Given the description of an element on the screen output the (x, y) to click on. 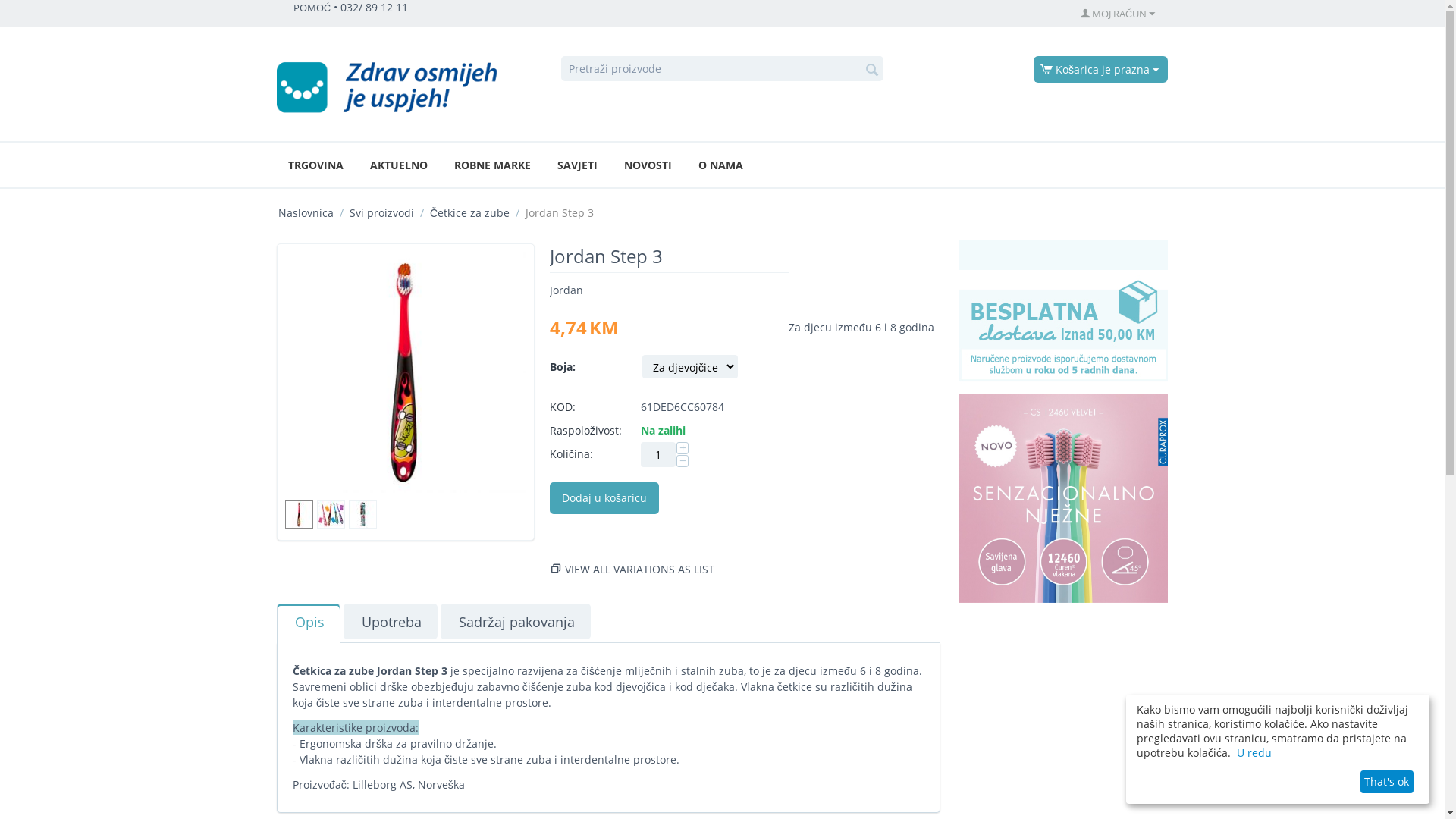
Curaprox CS 12460 velvet Element type: hover (1063, 498)
AKTUELNO Element type: text (398, 164)
Opis Element type: text (309, 621)
+ Element type: text (682, 448)
SAVJETI Element type: text (577, 164)
VIEW ALL VARIATIONS AS LIST Element type: text (639, 568)
NOVOSTI Element type: text (647, 164)
TRGOVINA Element type: text (315, 164)
Upotreba Element type: text (391, 621)
Search Element type: hover (871, 69)
That's ok Element type: text (1386, 781)
ROBNE MARKE Element type: text (492, 164)
O NAMA Element type: text (720, 164)
Jordan Element type: text (566, 289)
Naslovnica Element type: text (305, 212)
Svi proizvodi Element type: text (381, 212)
U redu Element type: text (1253, 752)
